Given the description of an element on the screen output the (x, y) to click on. 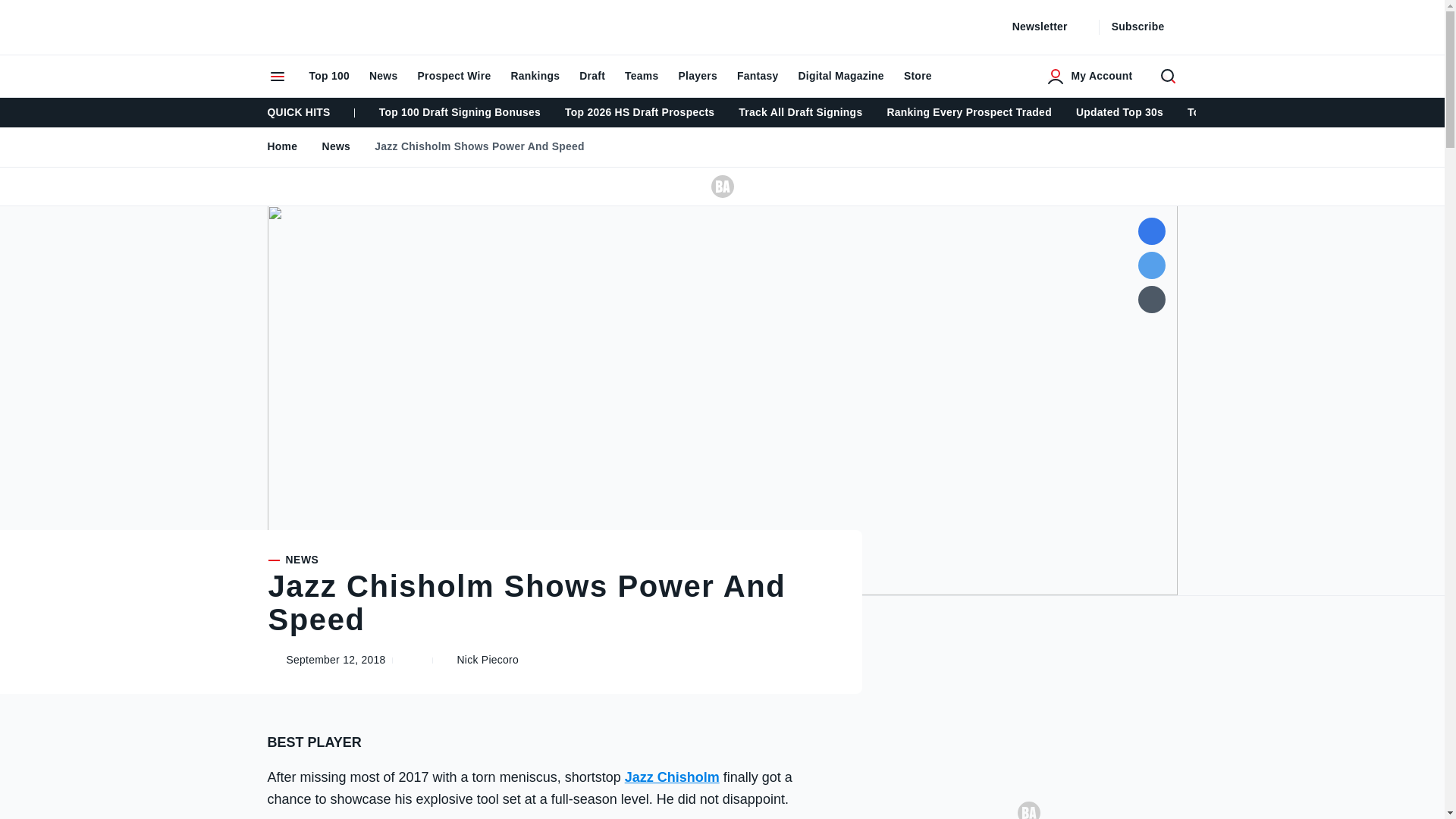
Top 100 Draft Signing Bonuses (459, 112)
Fantasy (757, 76)
Jazz Chisholm Shows Power And Speed (469, 146)
Draft (591, 76)
Posts by Nick Piecoro (487, 659)
Rankings (534, 76)
Home (282, 146)
Top 100 Prospects (1234, 112)
Share on Twitter (1150, 265)
Newsletter (551, 559)
Share via email (1048, 26)
News (1150, 298)
Top 100 (326, 146)
Top 2026 HS Draft Prospects (328, 76)
